Given the description of an element on the screen output the (x, y) to click on. 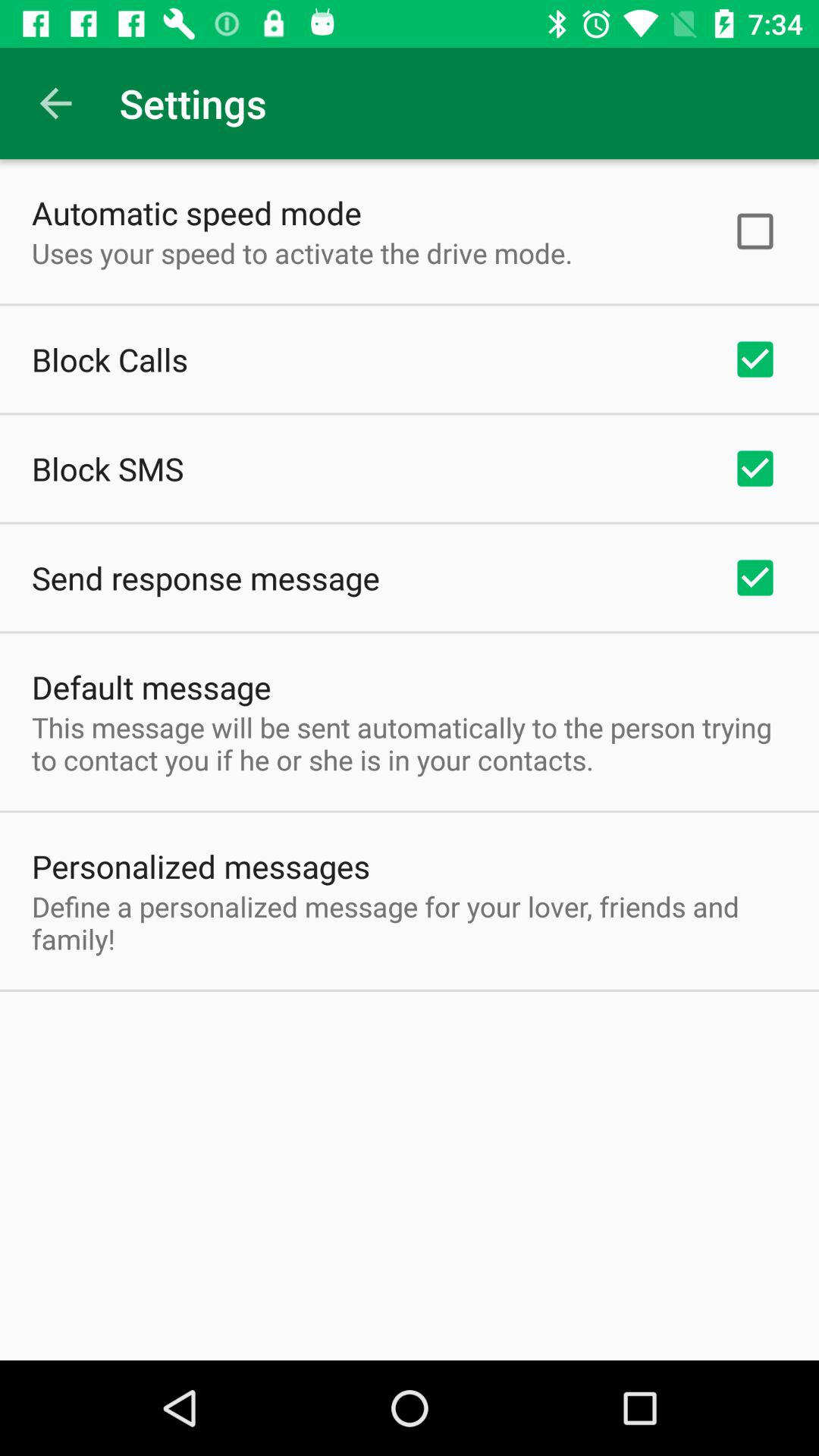
open the block calls app (109, 359)
